Given the description of an element on the screen output the (x, y) to click on. 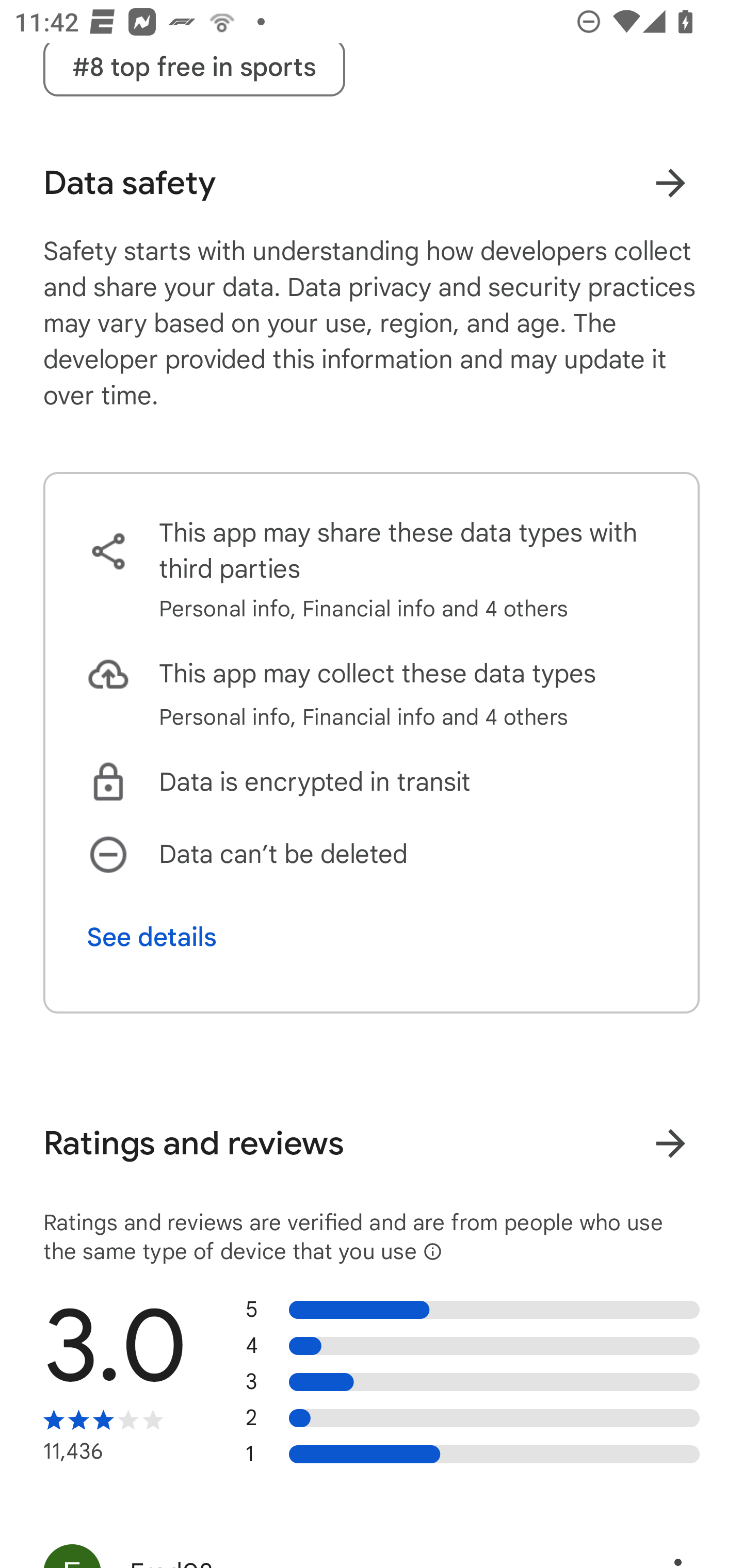
#8 top free in sports tag (194, 67)
Data safety Learn more about data safety (371, 183)
Learn more about data safety (670, 182)
See details (151, 937)
Ratings and reviews View all ratings and reviews (371, 1143)
View all ratings and reviews (670, 1143)
